Given the description of an element on the screen output the (x, y) to click on. 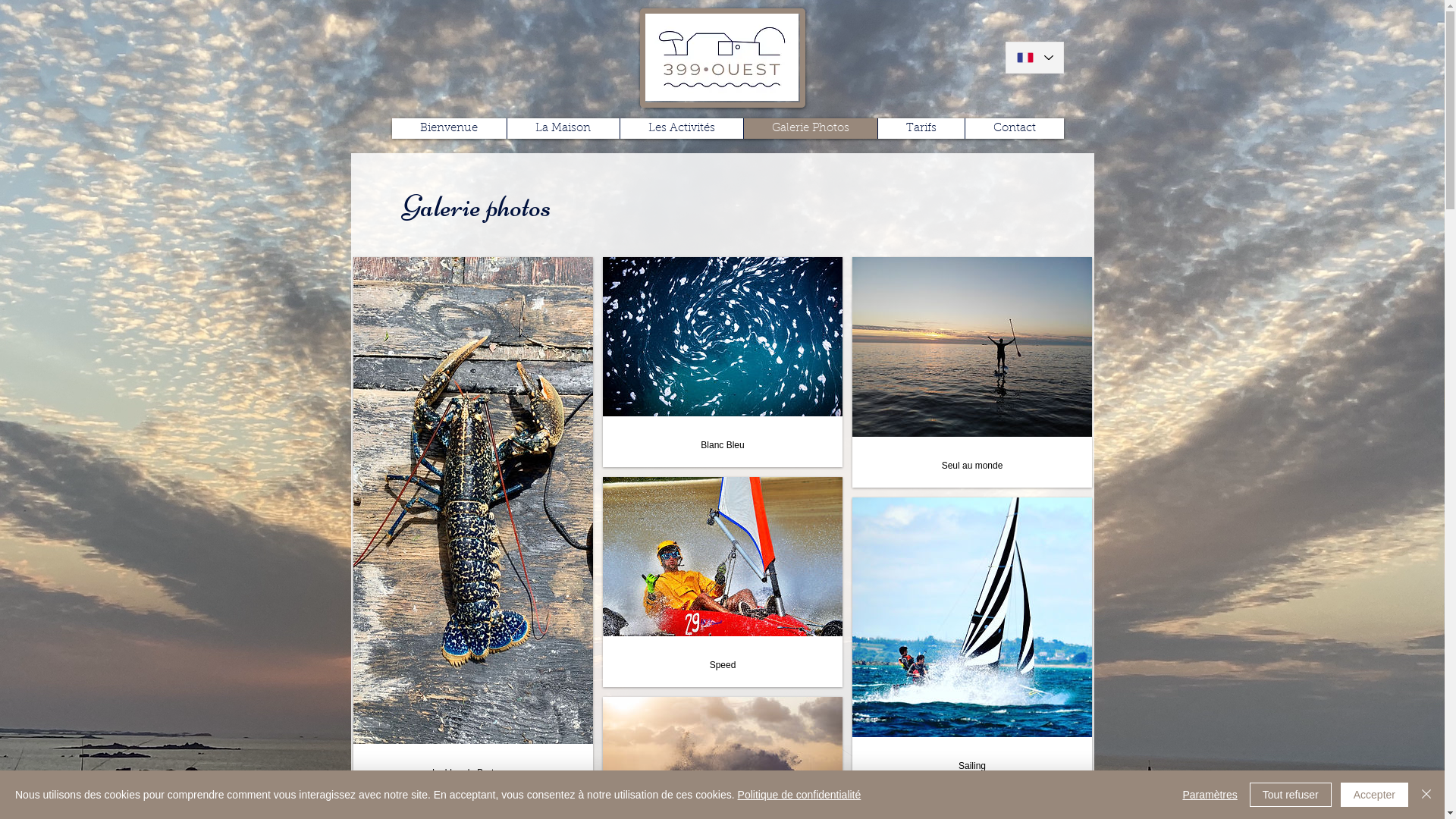
Accepter Element type: text (1374, 794)
Bienvenue Element type: text (448, 128)
Galerie Photos Element type: text (810, 128)
La Maison Element type: text (562, 128)
Contact Element type: text (1013, 128)
Tarifs Element type: text (919, 128)
Tout refuser Element type: text (1290, 794)
